Given the description of an element on the screen output the (x, y) to click on. 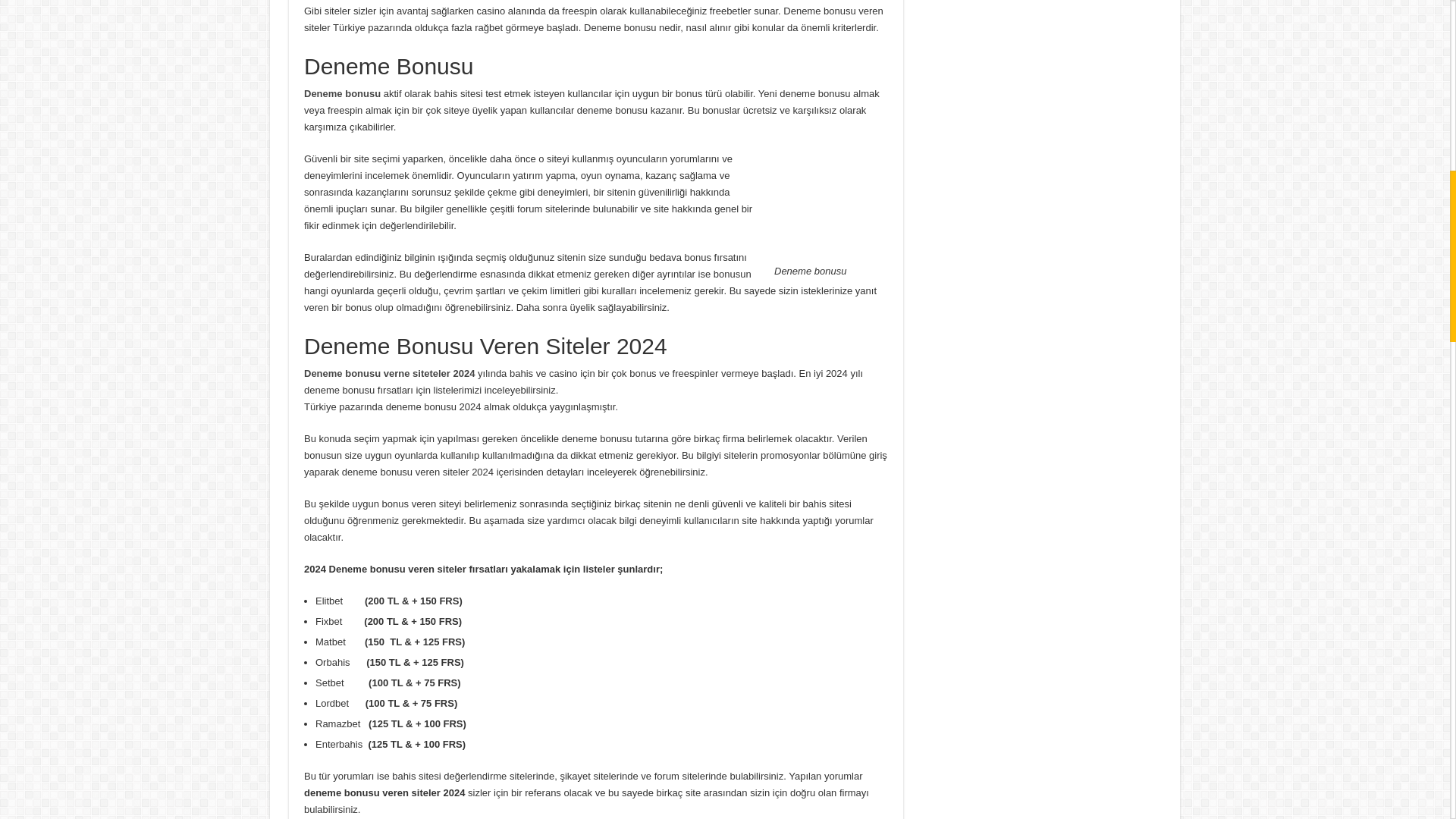
Deneme bonusu verne siteteler 2024 (390, 373)
Deneme bonusu (344, 93)
